Given the description of an element on the screen output the (x, y) to click on. 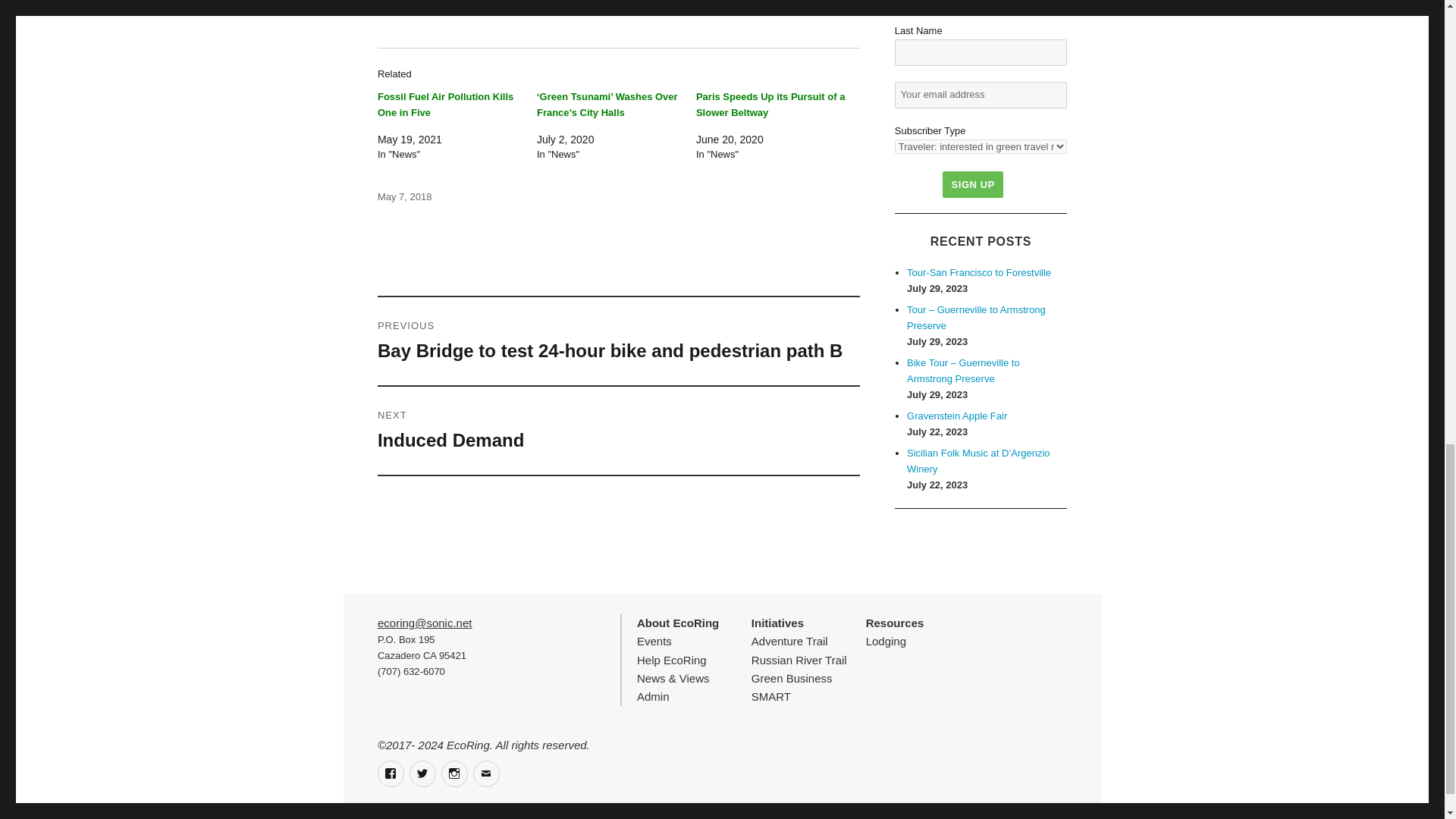
Click to share on Twitter (389, 2)
Fossil Fuel Air Pollution Kills One in Five (445, 103)
Sign up (972, 184)
Click to share on Facebook (419, 2)
Paris Speeds Up its Pursuit of a Slower Beltway (770, 103)
